Given the description of an element on the screen output the (x, y) to click on. 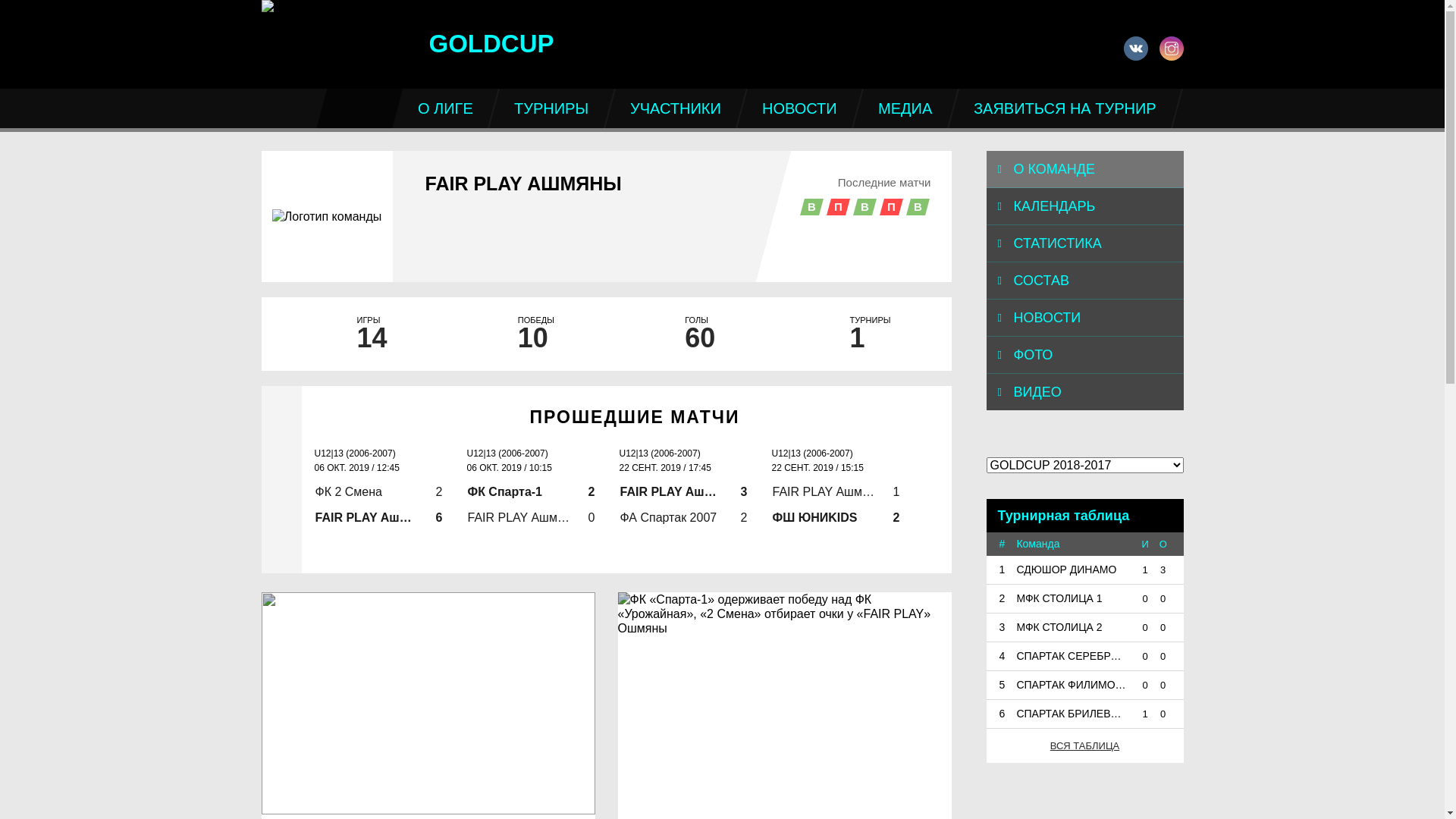
U12|13 (2006-2007) Element type: text (829, 453)
U12|13 (2006-2007) Element type: text (525, 453)
U12|13 (2006-2007) Element type: text (371, 453)
GOLDCUP Element type: text (406, 36)
U12|13 (2006-2007) Element type: text (981, 453)
U12|13 (2006-2007) Element type: text (676, 453)
